Given the description of an element on the screen output the (x, y) to click on. 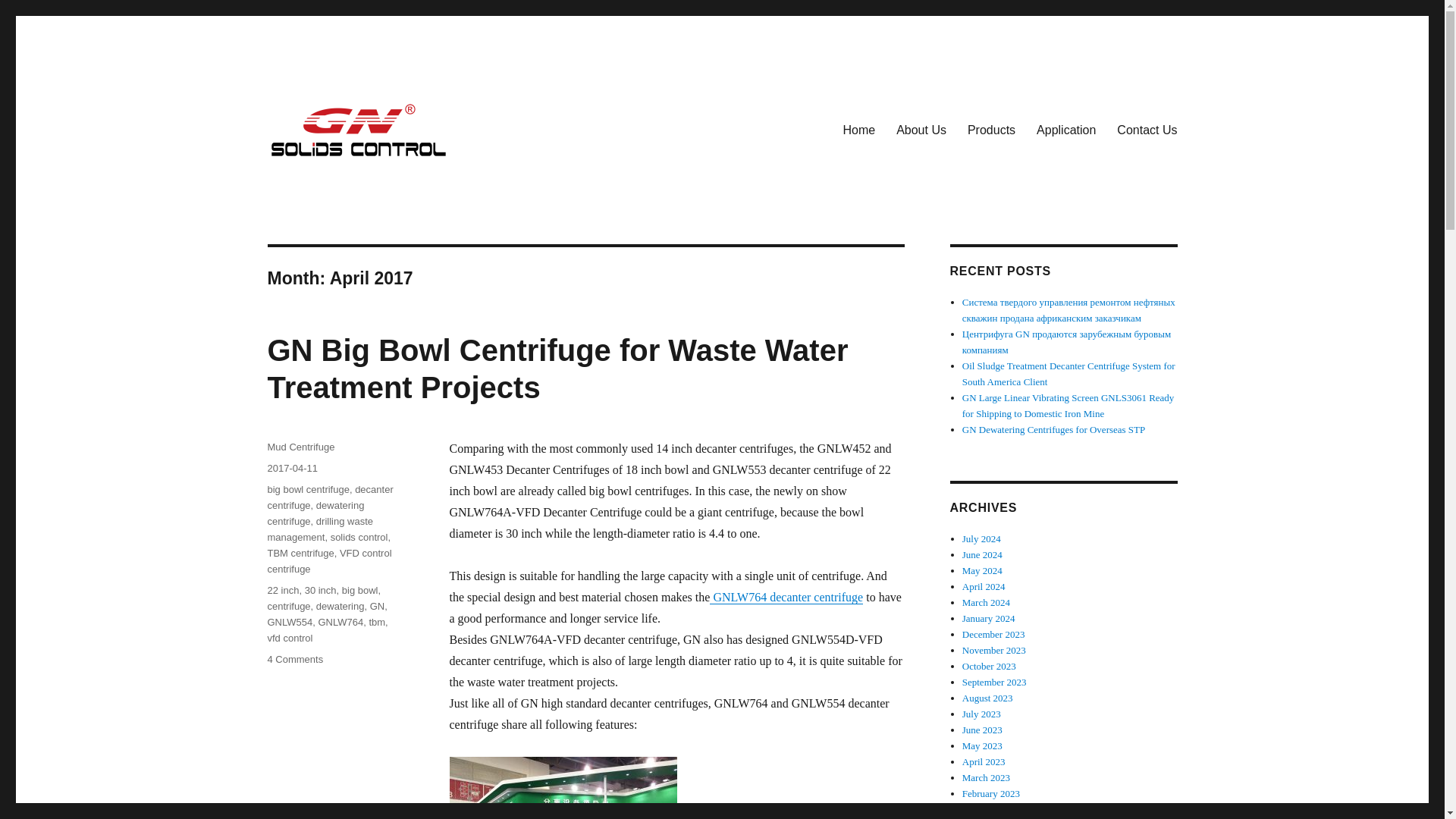
GN Decanter Centrifuge (386, 182)
dewatering centrifuge (315, 513)
GNLW764 (339, 622)
TBM centrifuge (299, 552)
June 2024 (982, 554)
centrifuge (288, 605)
GN Dewatering Centrifuges for Overseas STP (1053, 429)
Mud Centrifuge (300, 446)
vfd control (289, 637)
big bowl (360, 590)
GNLW554 (289, 622)
Application (1066, 129)
Products (991, 129)
July 2024 (981, 538)
